Given the description of an element on the screen output the (x, y) to click on. 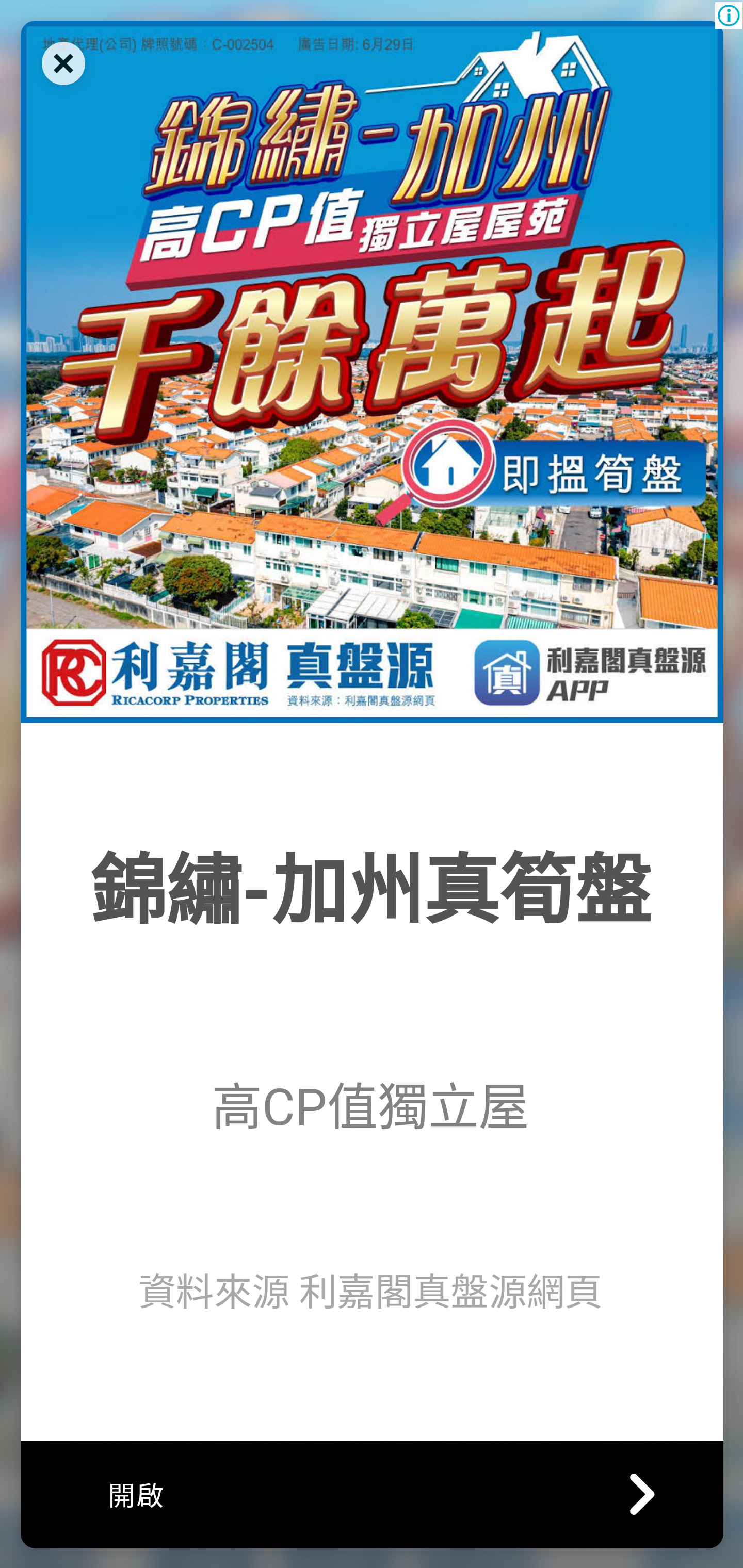
B29900947 (371, 371)
錦繡-加州真筍盤 (369, 891)
高CP值獨立屋 (371, 1105)
資料來源 利嘉閣真盤源網頁 (370, 1291)
開啟 (371, 1493)
